Given the description of an element on the screen output the (x, y) to click on. 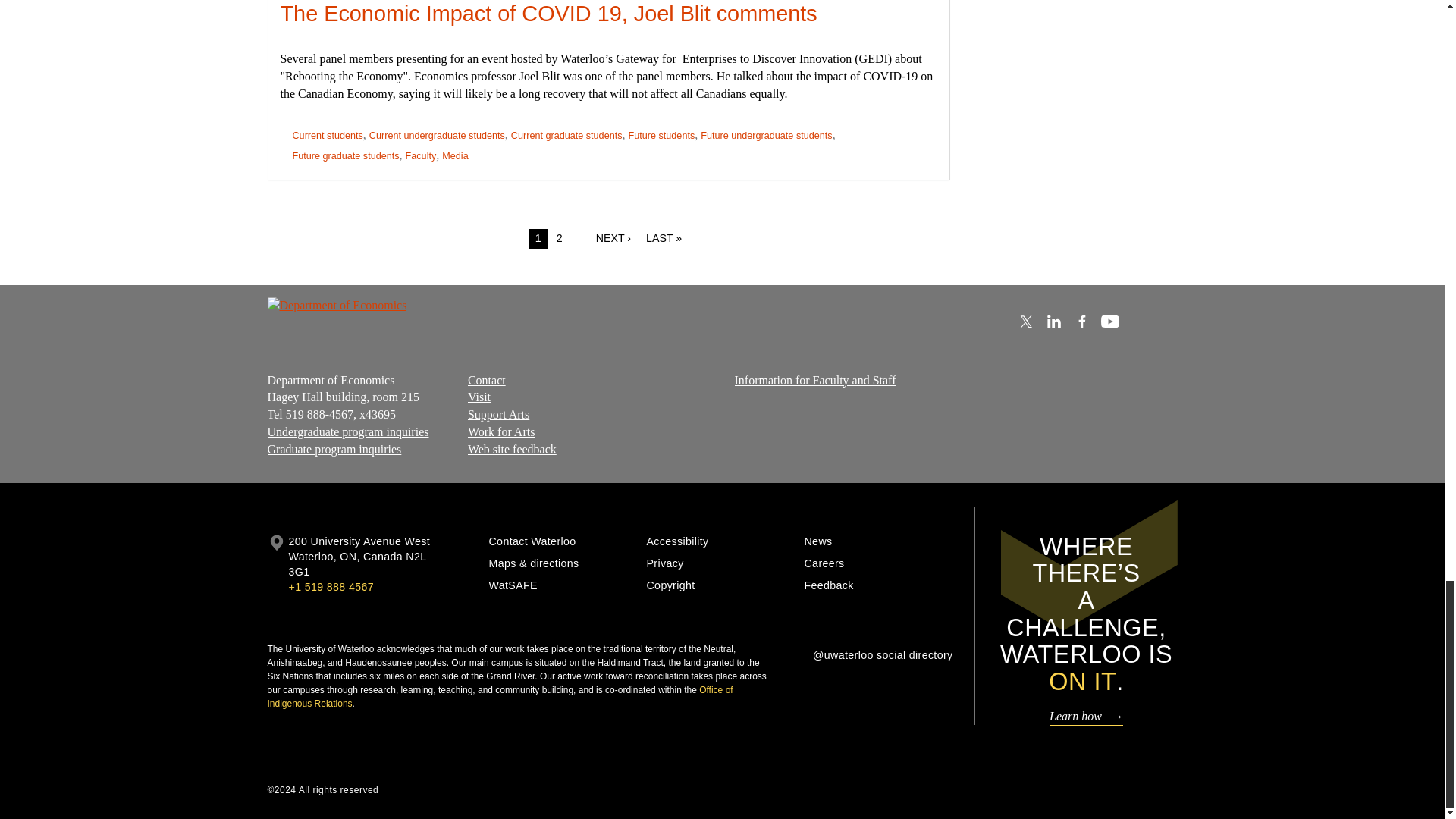
Go to page 2 (559, 238)
Go to next page (613, 238)
Go to last page (663, 238)
